Given the description of an element on the screen output the (x, y) to click on. 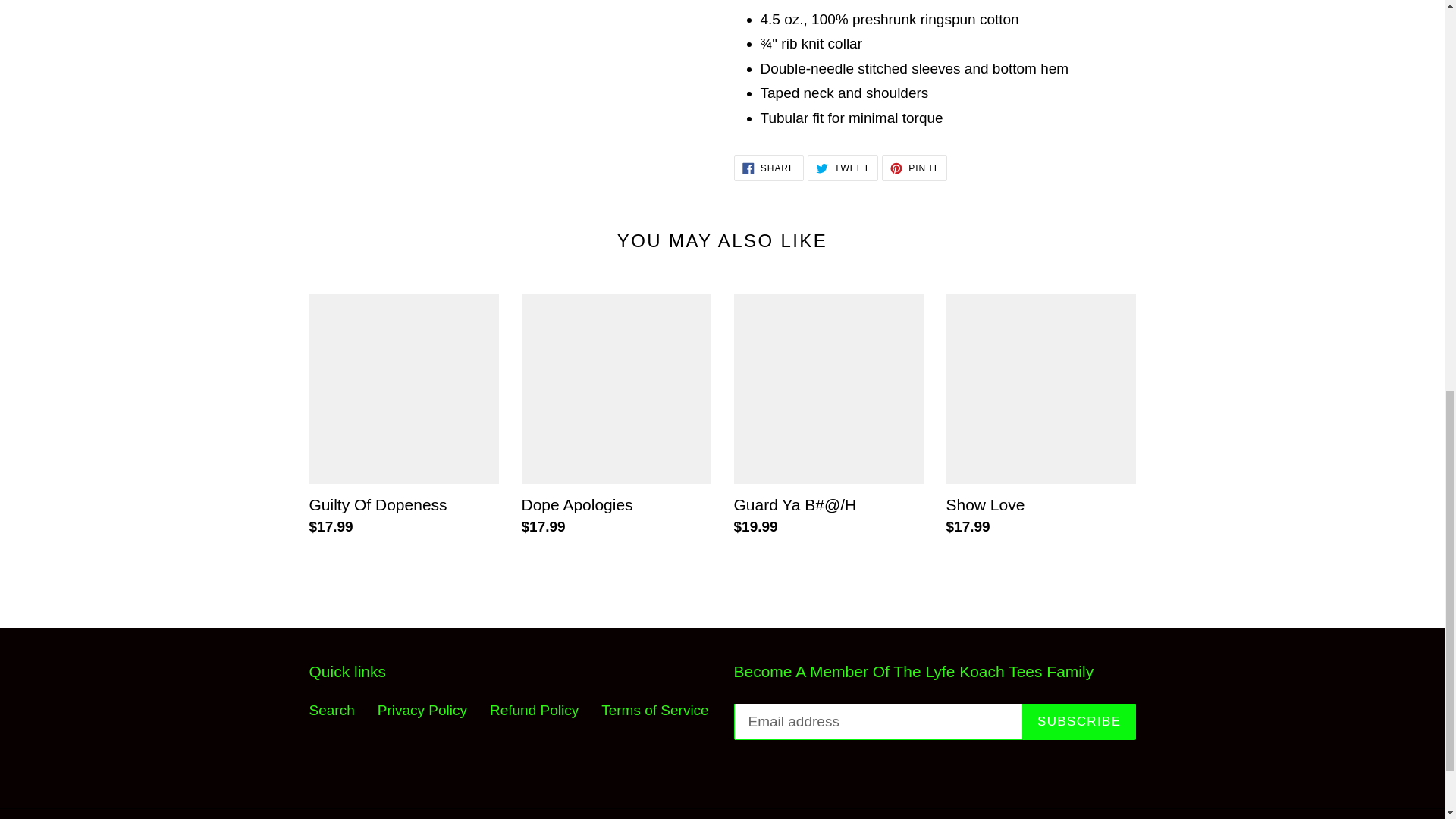
Privacy Policy (768, 167)
Refund Policy (422, 709)
Terms of Service (533, 709)
SUBSCRIBE (842, 167)
Search (914, 167)
